Given the description of an element on the screen output the (x, y) to click on. 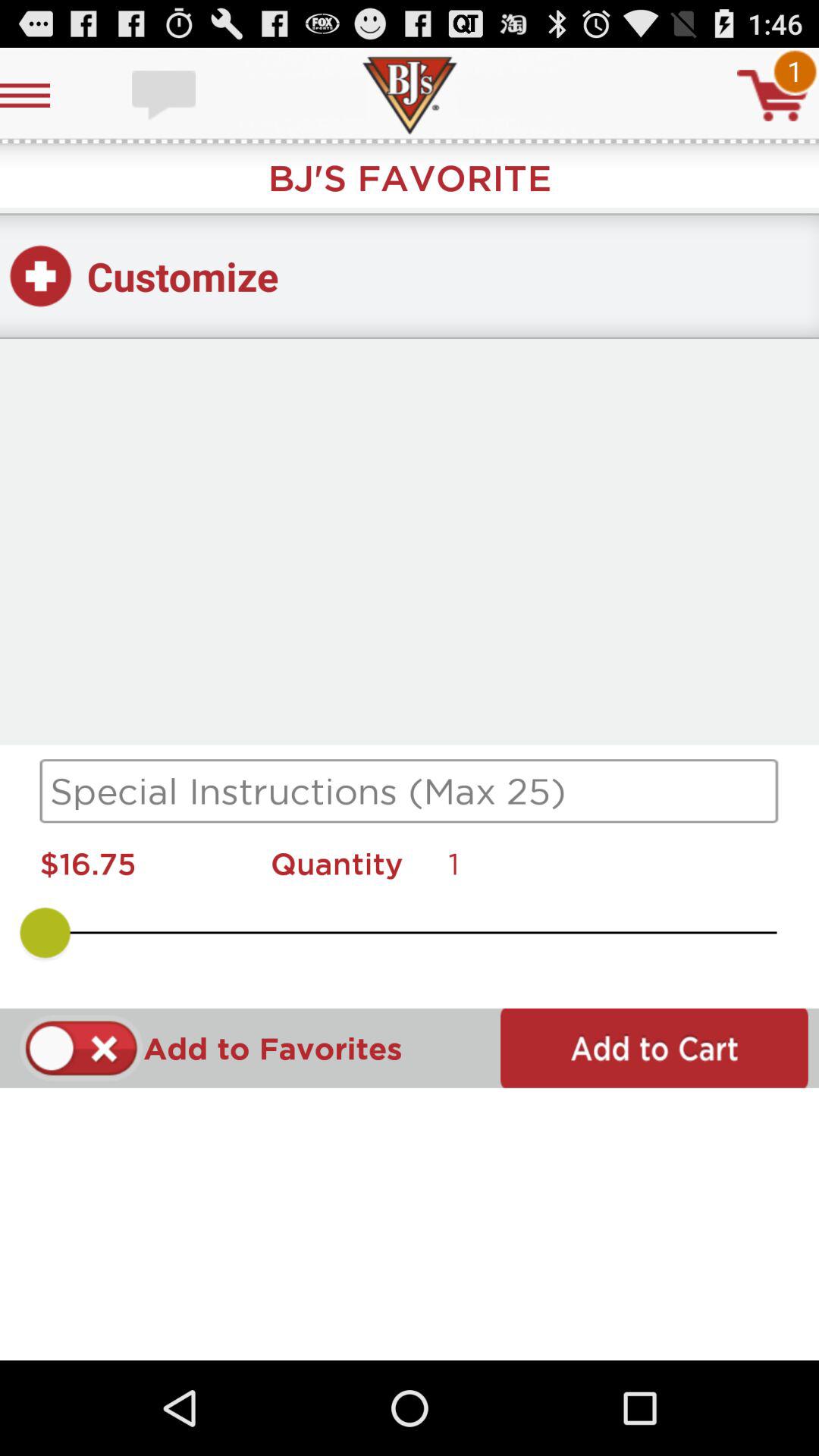
toggle add to favorites (81, 1048)
